Given the description of an element on the screen output the (x, y) to click on. 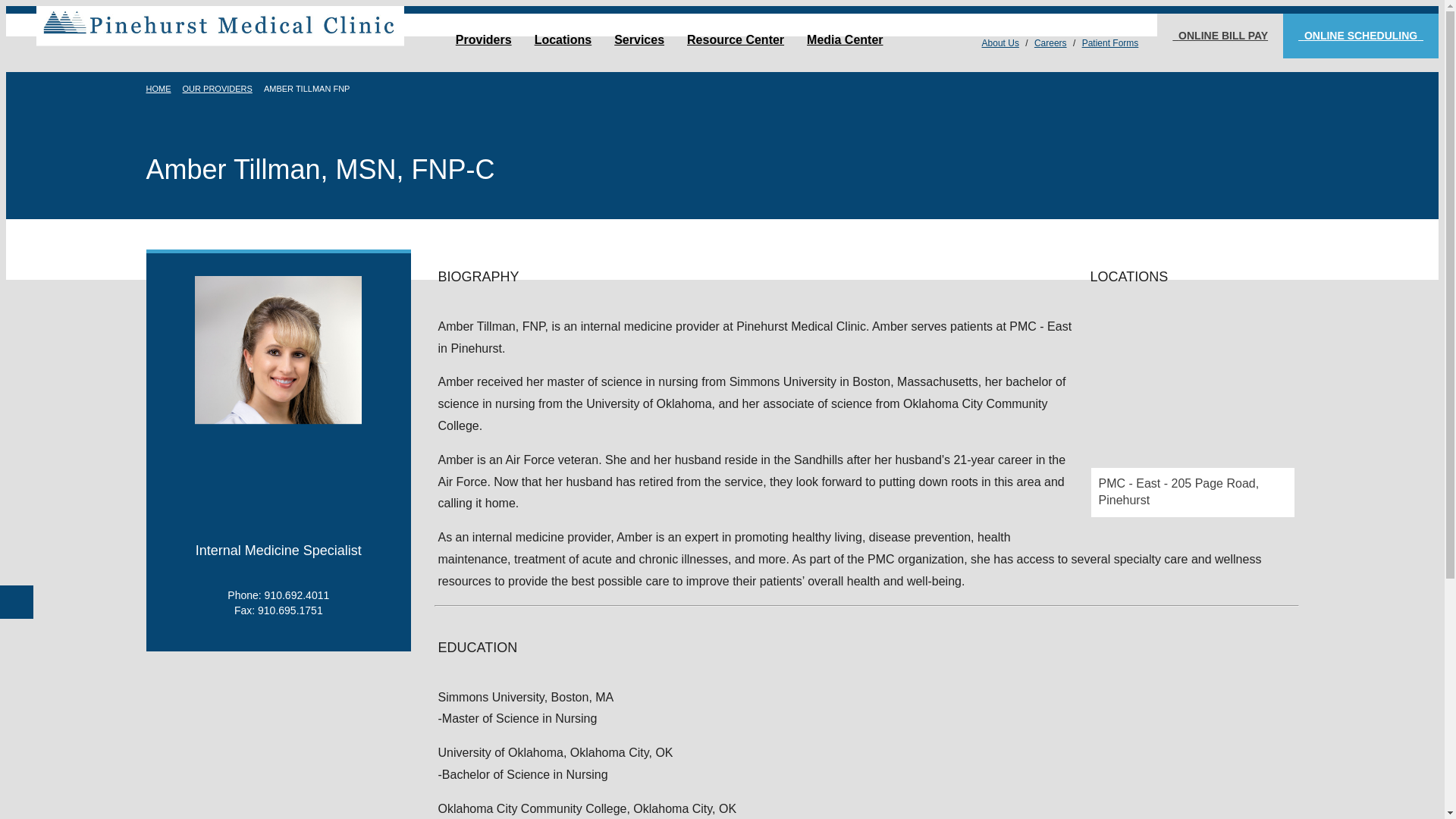
  ONLINE BILL PAY (1219, 35)
Patient Forms (1110, 42)
Locations (563, 40)
Providers (483, 40)
Services (638, 40)
About Us (1000, 42)
Careers (1050, 42)
